Given the description of an element on the screen output the (x, y) to click on. 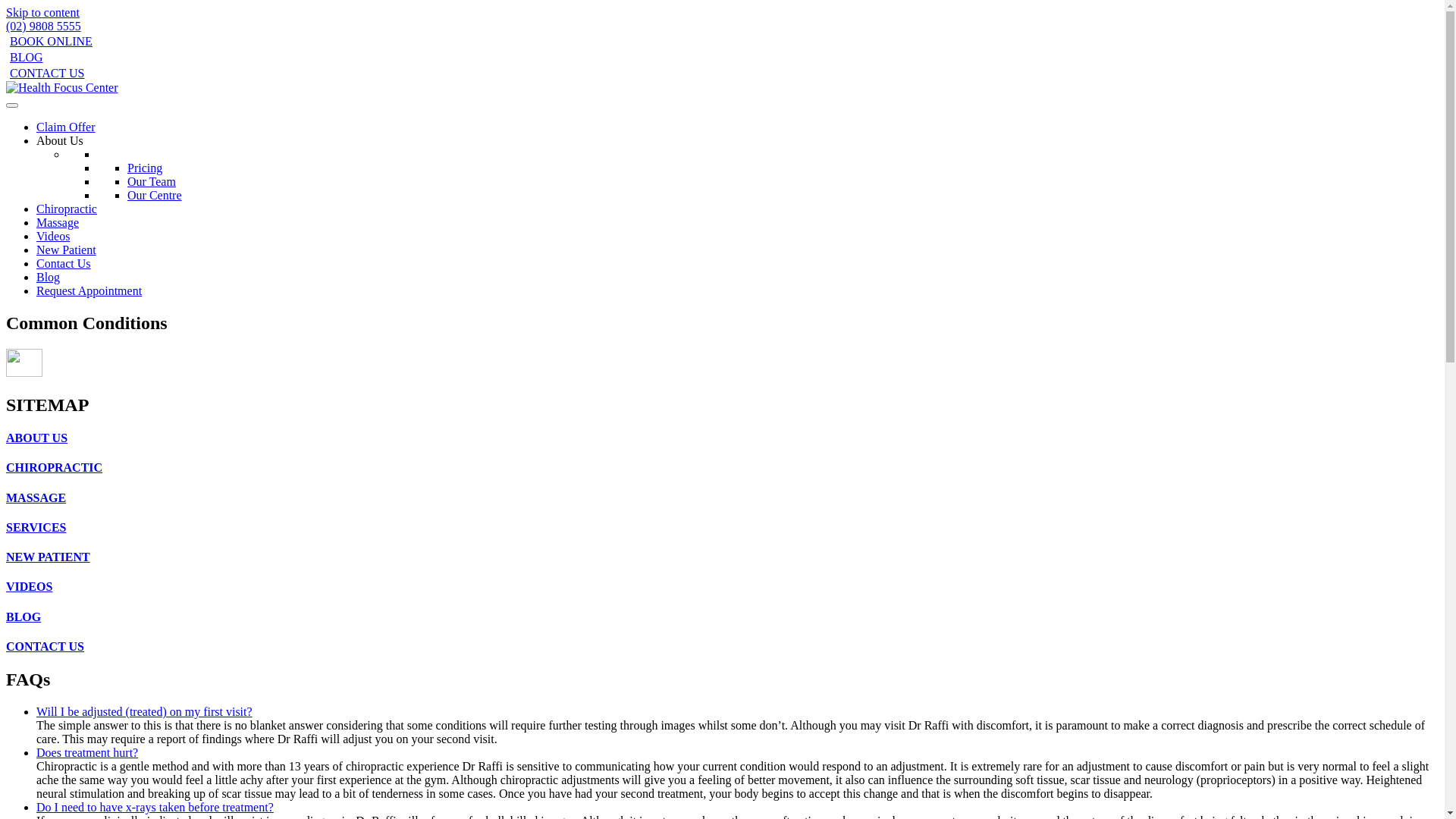
Will I be adjusted (treated) on my first visit? Element type: text (144, 711)
Our Team Element type: text (151, 181)
Do I need to have x-rays taken before treatment? Element type: text (154, 806)
SERVICES Element type: text (722, 527)
NEW PATIENT Element type: text (722, 557)
(02) 9808 5555 Element type: text (43, 25)
Our Centre Element type: text (154, 194)
CONTACT US Element type: text (45, 72)
MASSAGE Element type: text (722, 498)
Skip to content Element type: text (42, 12)
About Us Element type: text (59, 140)
CHIROPRACTIC Element type: text (722, 467)
New Patient Element type: text (66, 249)
Chiropractic Element type: text (66, 208)
CONTACT US Element type: text (722, 646)
Contact Us Element type: text (63, 263)
VIDEOS Element type: text (722, 586)
Videos Element type: text (52, 235)
Request Appointment Element type: text (88, 290)
ABOUT US Element type: text (722, 438)
BLOG Element type: text (24, 56)
Claim Offer Element type: text (65, 126)
Does treatment hurt? Element type: text (87, 752)
BLOG Element type: text (722, 617)
Pricing Element type: text (144, 167)
BOOK ONLINE Element type: text (49, 40)
Blog Element type: text (47, 276)
Massage Element type: text (57, 222)
